Given the description of an element on the screen output the (x, y) to click on. 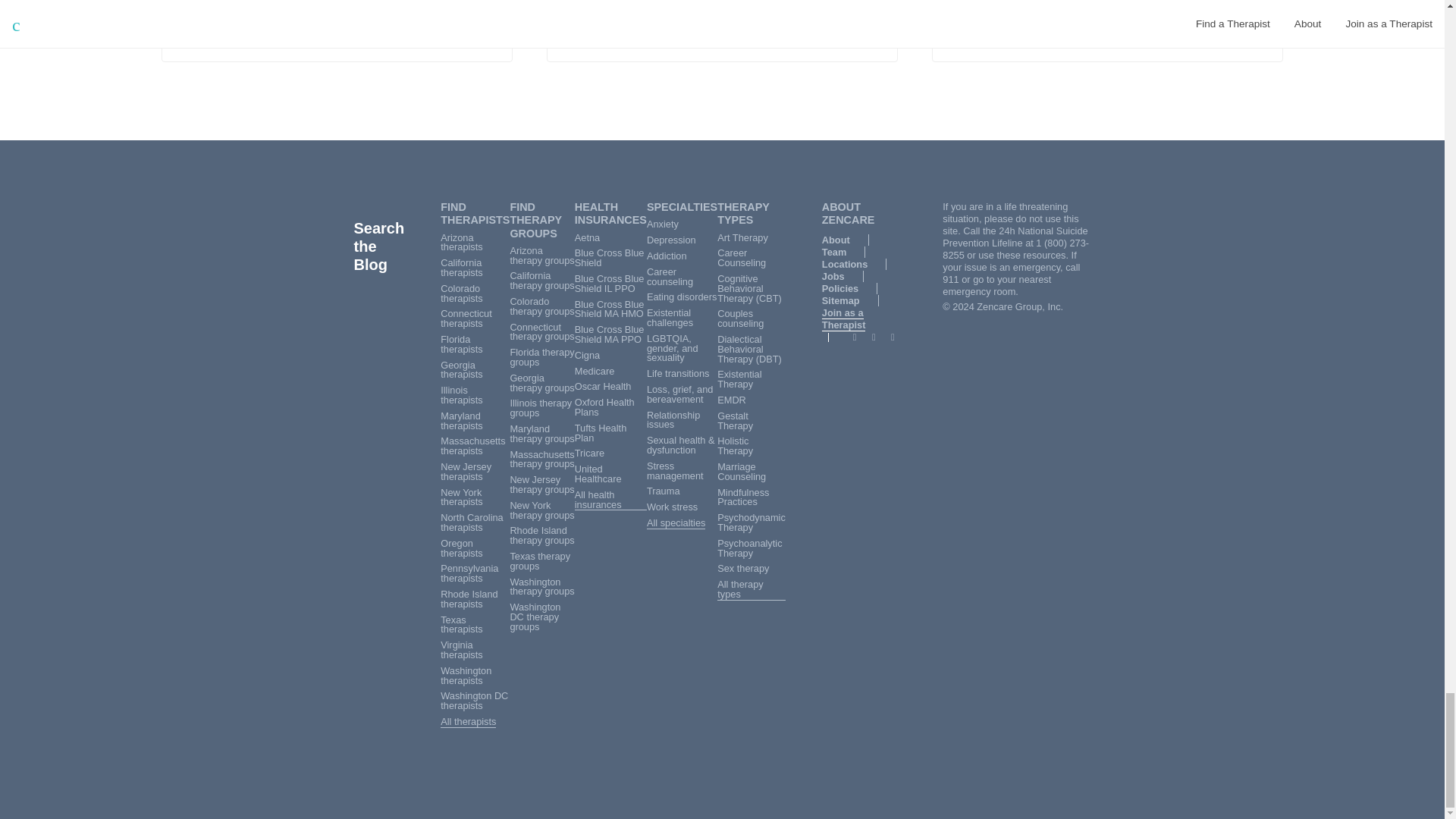
Jenna Zimmerman (192, 28)
Yuri Tomikawa (962, 28)
Yuri Tomikawa (962, 29)
Zencare team (577, 29)
Zencare team (577, 28)
Jenna Zimmerman (192, 29)
Zencare team (216, 29)
Zencare team (216, 28)
